Given the description of an element on the screen output the (x, y) to click on. 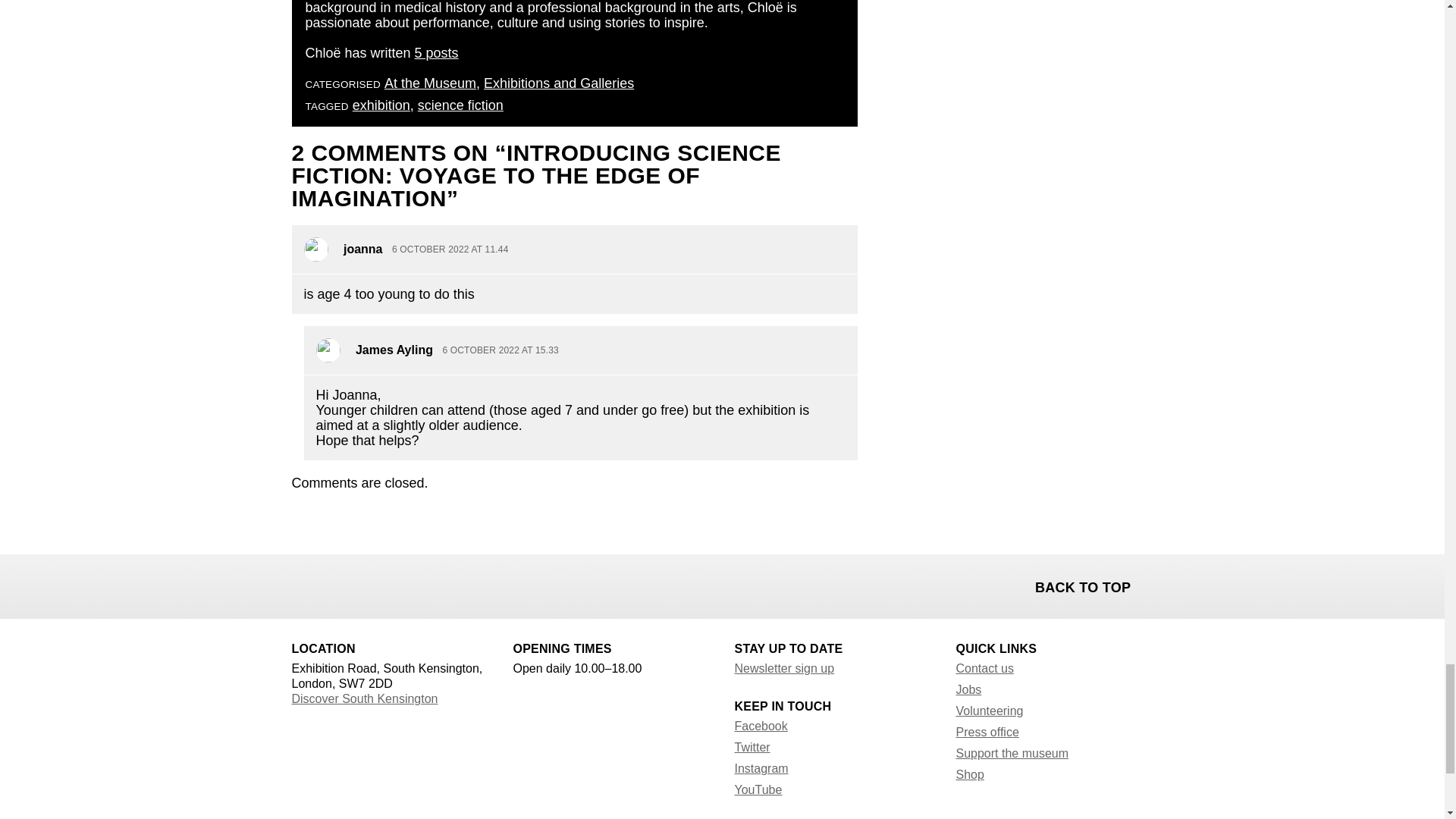
5 posts (436, 52)
6 OCTOBER 2022 AT 15.33 (500, 350)
exhibition (381, 105)
6 OCTOBER 2022 AT 11.44 (449, 249)
Tweet this (344, 584)
science fiction (460, 105)
At the Museum (430, 83)
Exhibitions and Galleries (558, 83)
Share by email (384, 584)
Share on facebook (304, 584)
